Given the description of an element on the screen output the (x, y) to click on. 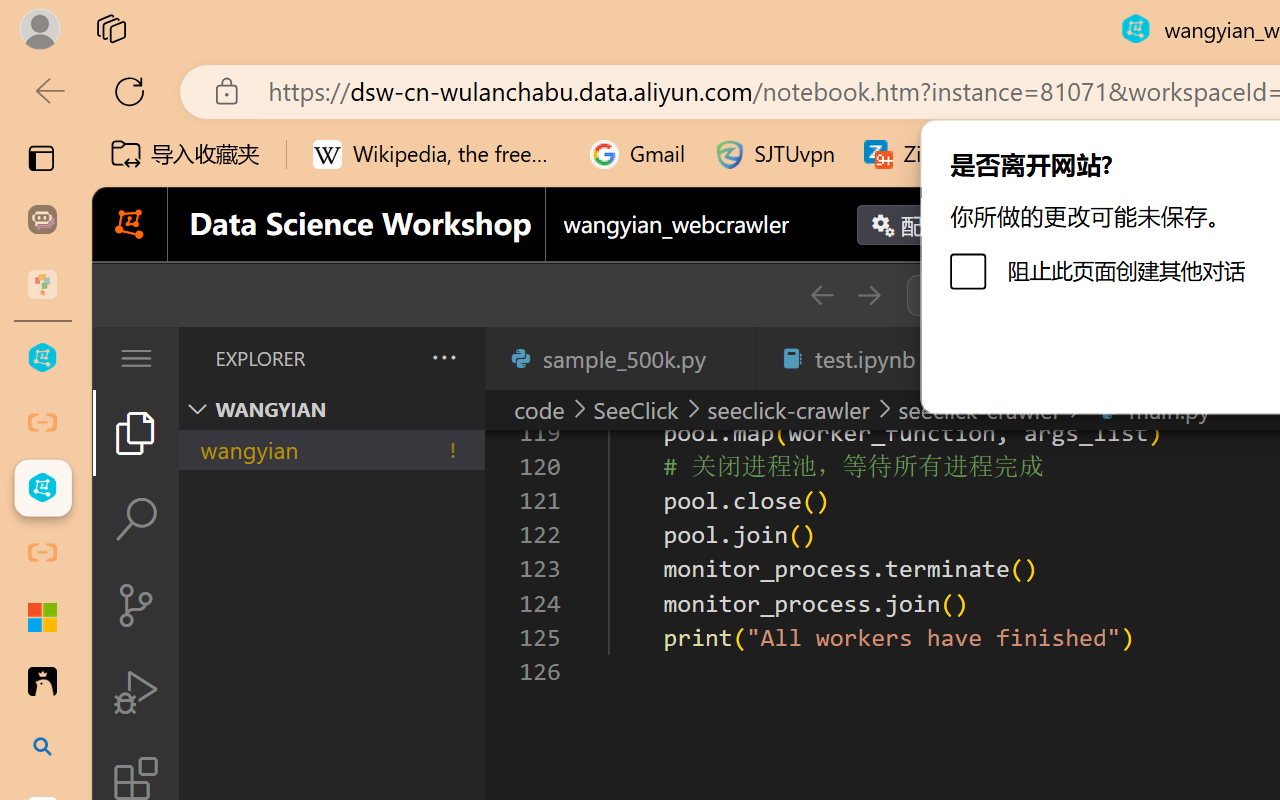
Tab actions (730, 358)
wangyian_webcrawler - DSW (42, 487)
Wikipedia, the free encyclopedia (437, 154)
sample_500k.py (619, 358)
Explorer (Ctrl+Shift+E) (135, 432)
Explorer actions (391, 358)
Explorer Section: wangyian (331, 409)
Application Menu (135, 358)
Close (Ctrl+F4) (729, 358)
Gmail (637, 154)
